Given the description of an element on the screen output the (x, y) to click on. 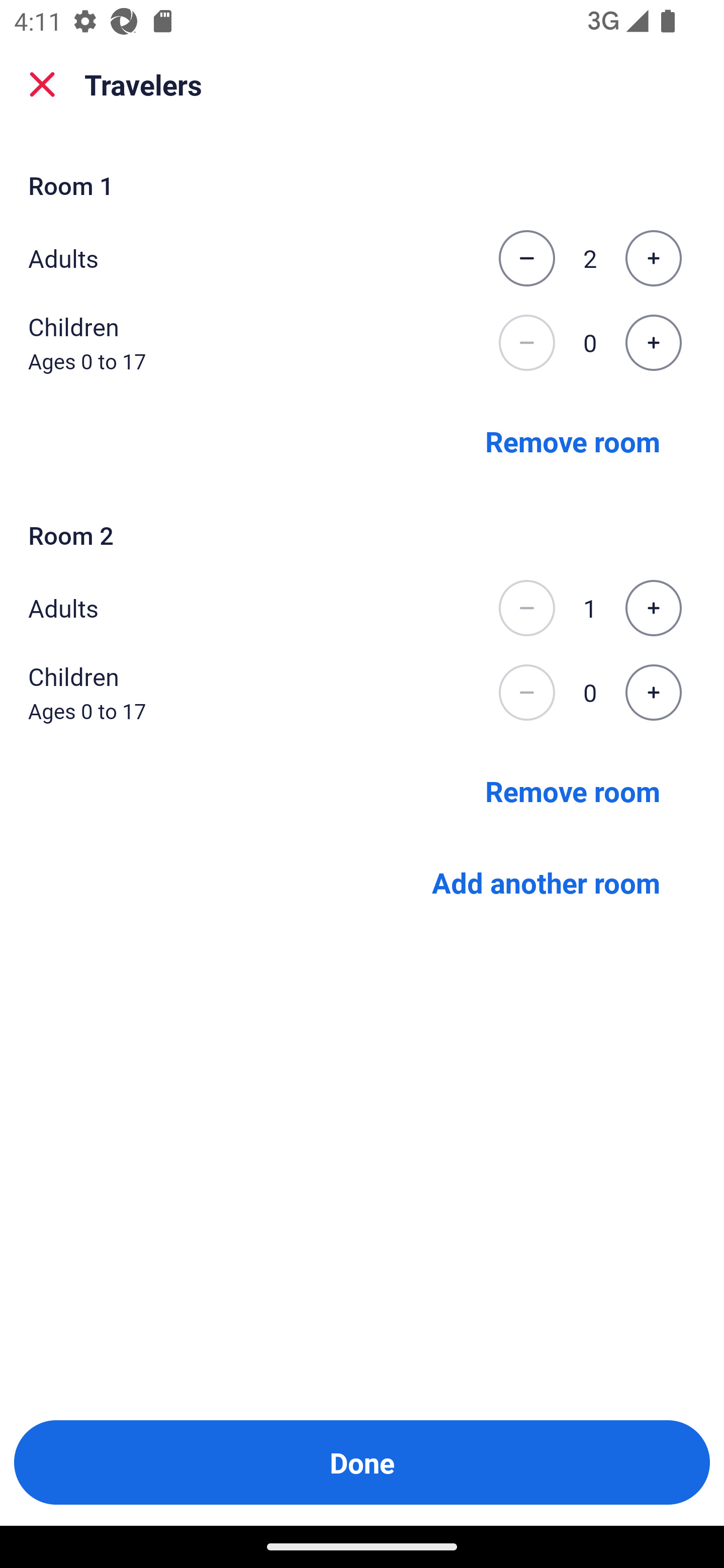
close (42, 84)
Decrease the number of adults (526, 258)
Increase the number of adults (653, 258)
Decrease the number of children (526, 343)
Increase the number of children (653, 343)
Remove room (572, 440)
Decrease the number of adults (526, 608)
Increase the number of adults (653, 608)
Decrease the number of children (526, 692)
Increase the number of children (653, 692)
Remove room (572, 790)
Add another room (545, 882)
Done (361, 1462)
